Given the description of an element on the screen output the (x, y) to click on. 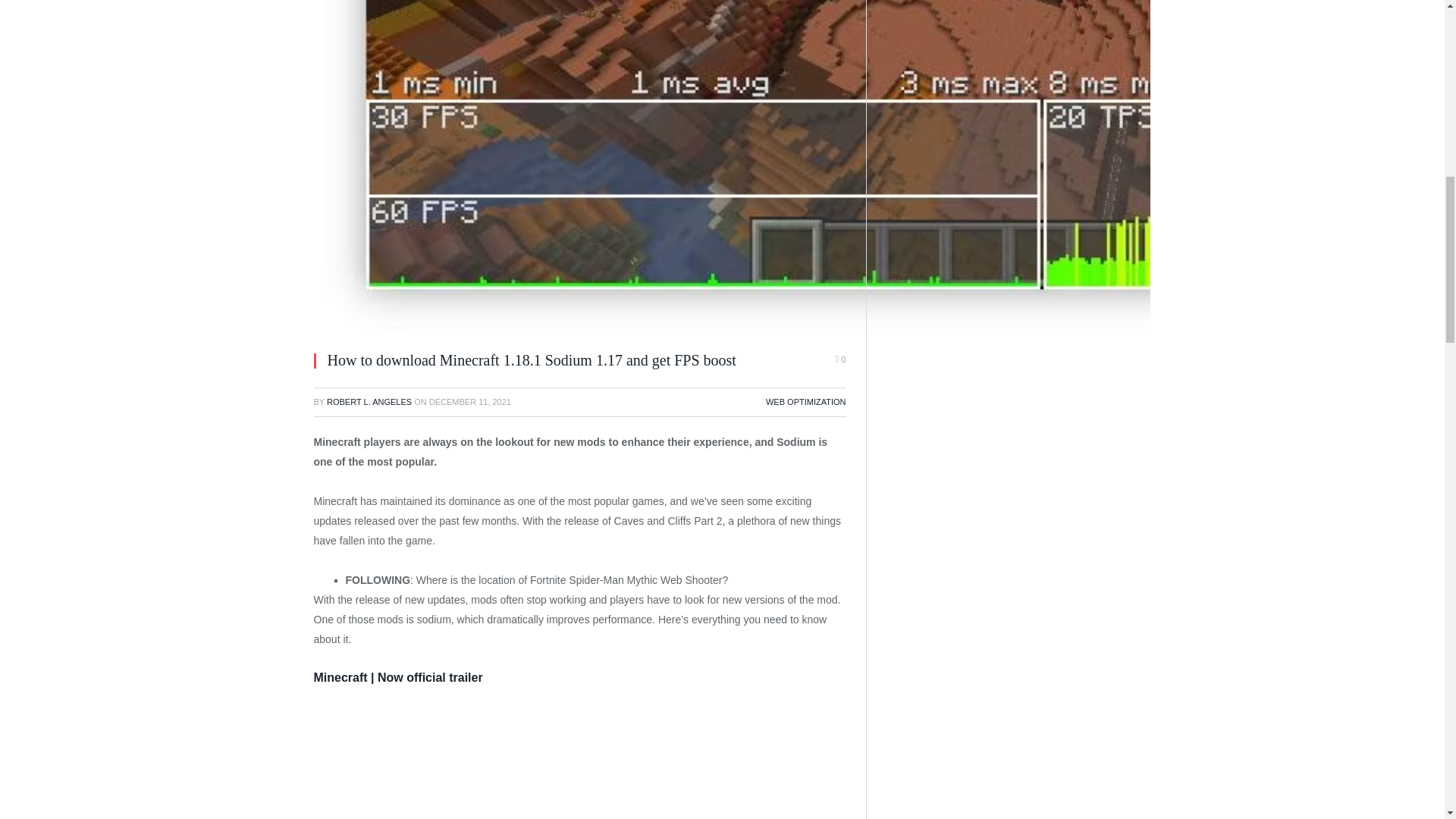
WEB OPTIMIZATION (805, 401)
Posts by Robert L. Angeles (369, 401)
ROBERT L. ANGELES (369, 401)
2021-12-11 (470, 401)
